Given the description of an element on the screen output the (x, y) to click on. 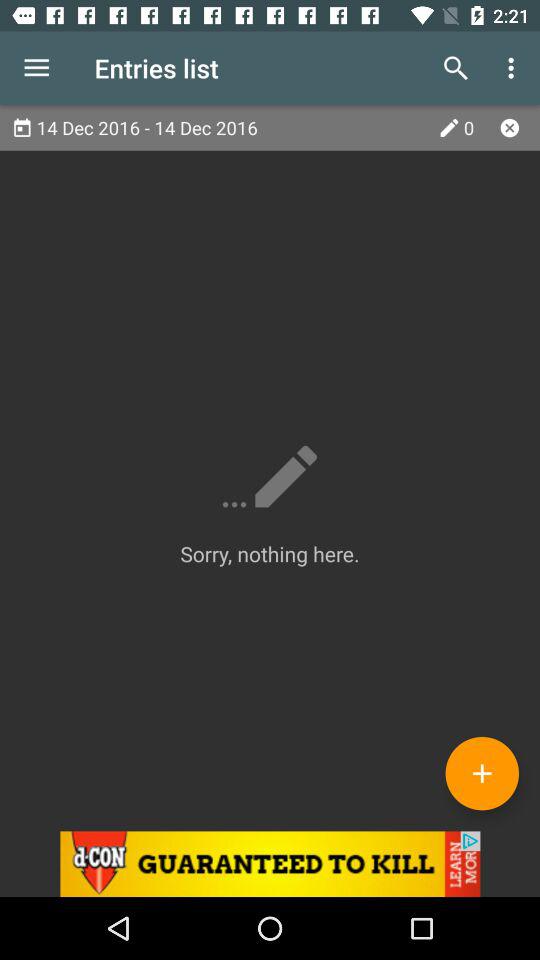
advertisement (270, 864)
